Given the description of an element on the screen output the (x, y) to click on. 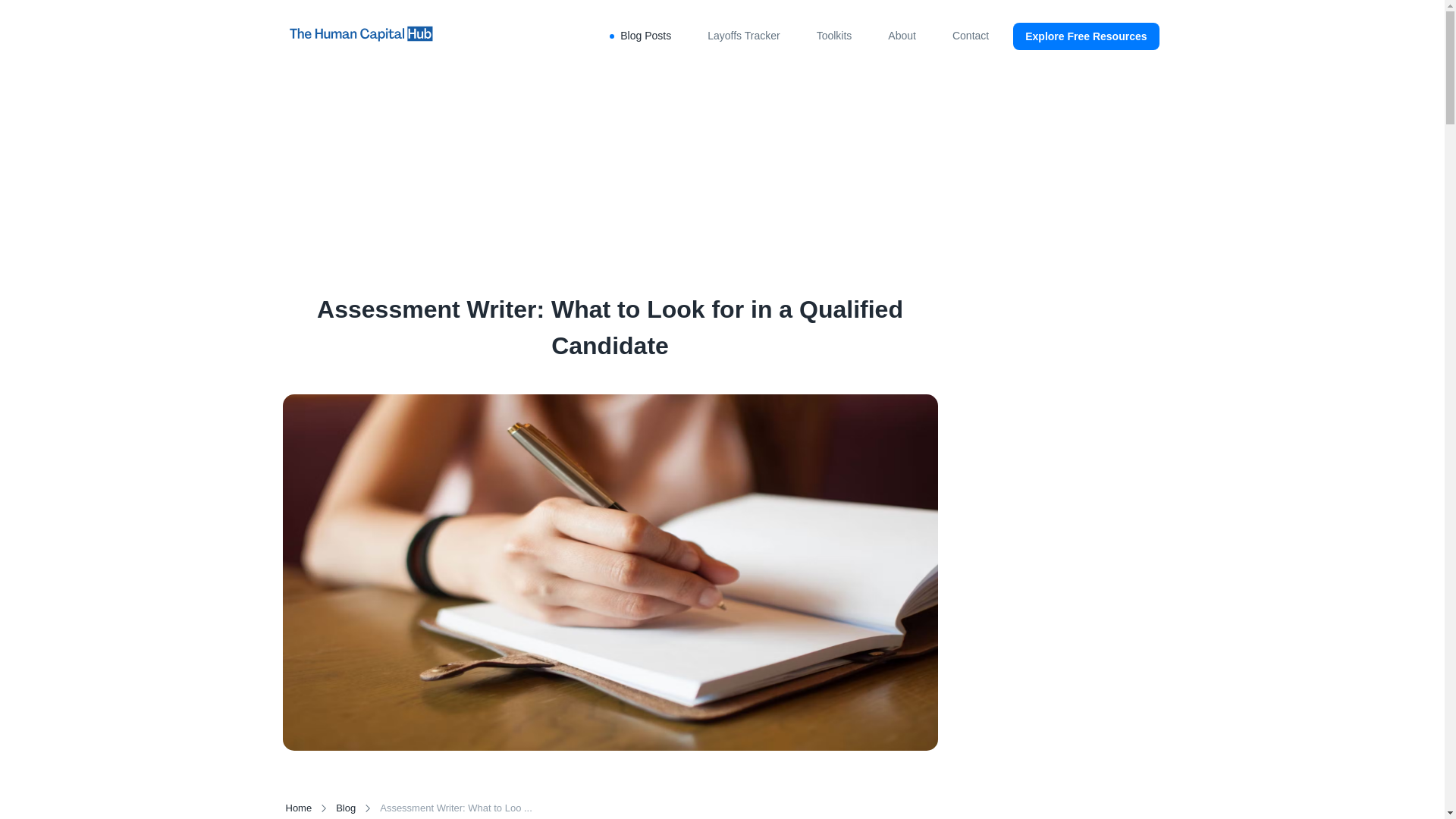
Blog Posts (645, 35)
Explore Free Resources (1085, 35)
Toolkits (833, 35)
Contact (970, 35)
Layoffs Tracker (742, 35)
Blog (345, 808)
About (901, 35)
Home (298, 808)
